Given the description of an element on the screen output the (x, y) to click on. 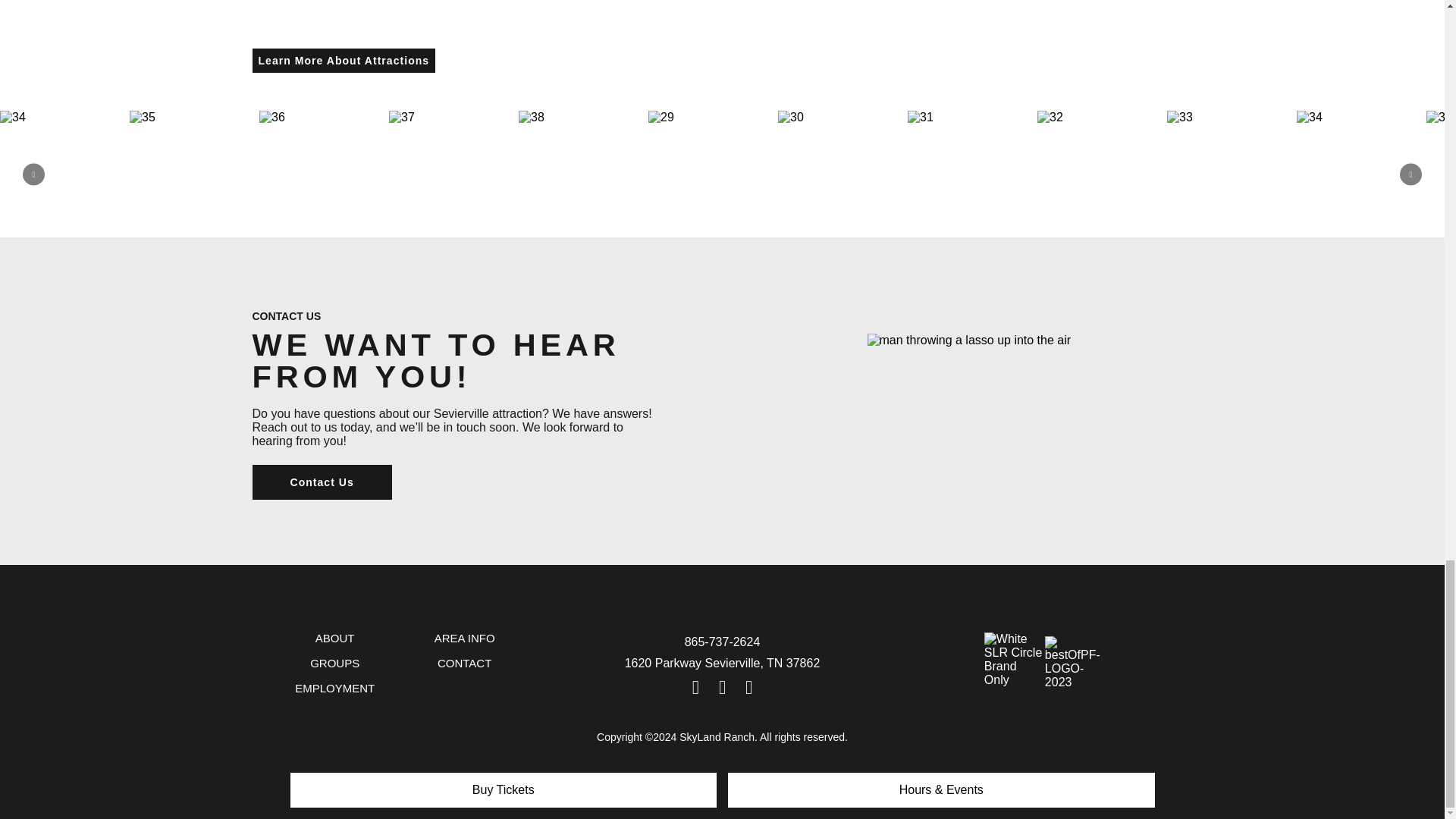
ABOUT (334, 637)
GROUPS (334, 662)
Learn More About Attractions (343, 60)
Contact Us (321, 482)
